Given the description of an element on the screen output the (x, y) to click on. 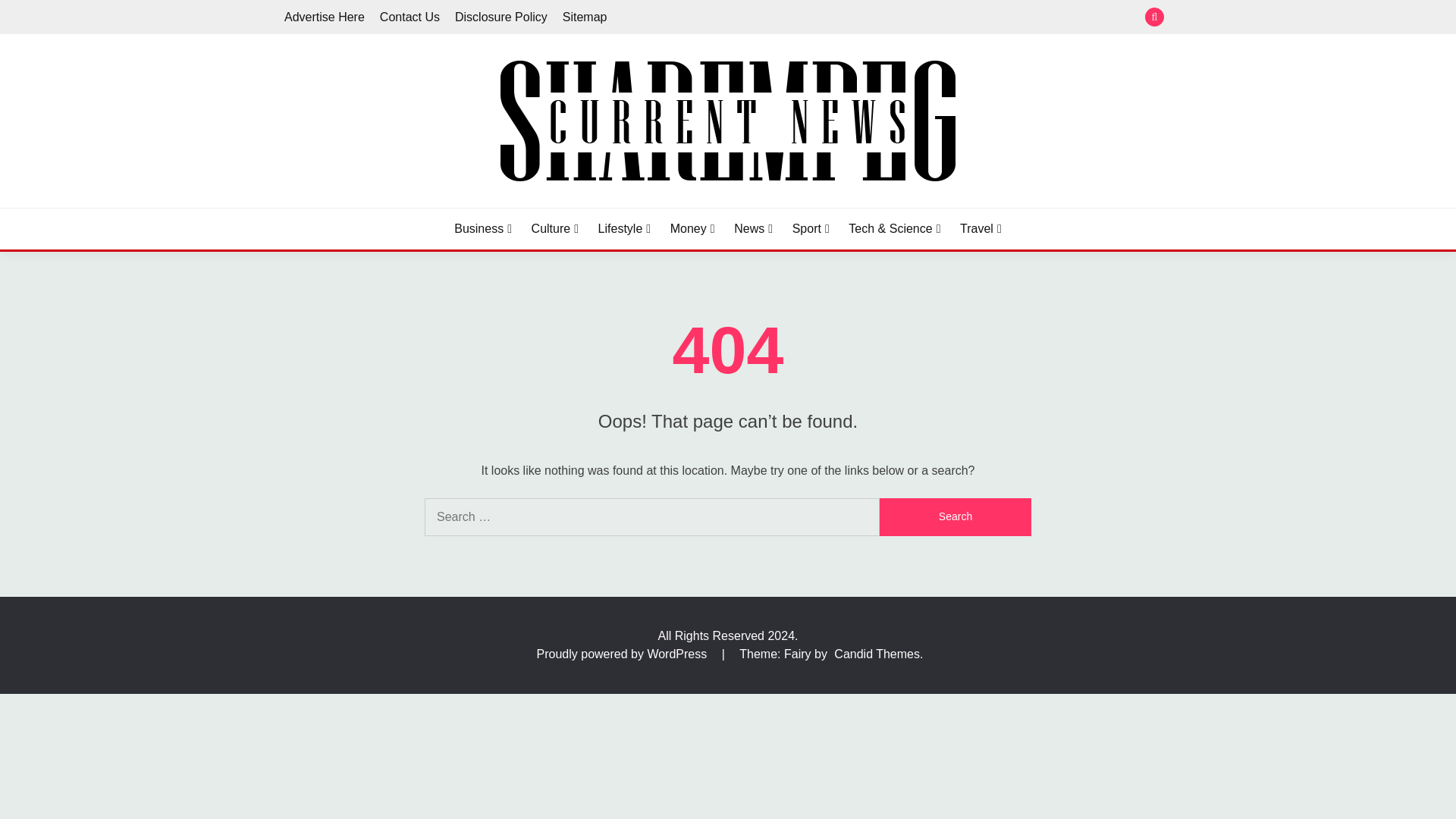
Advertise Here (324, 16)
Search (839, 18)
Culture (554, 229)
SHARE MPEG (377, 205)
Search (954, 516)
Lifestyle (624, 229)
Contact Us (409, 16)
Disclosure Policy (500, 16)
Search (954, 516)
Money (691, 229)
